Given the description of an element on the screen output the (x, y) to click on. 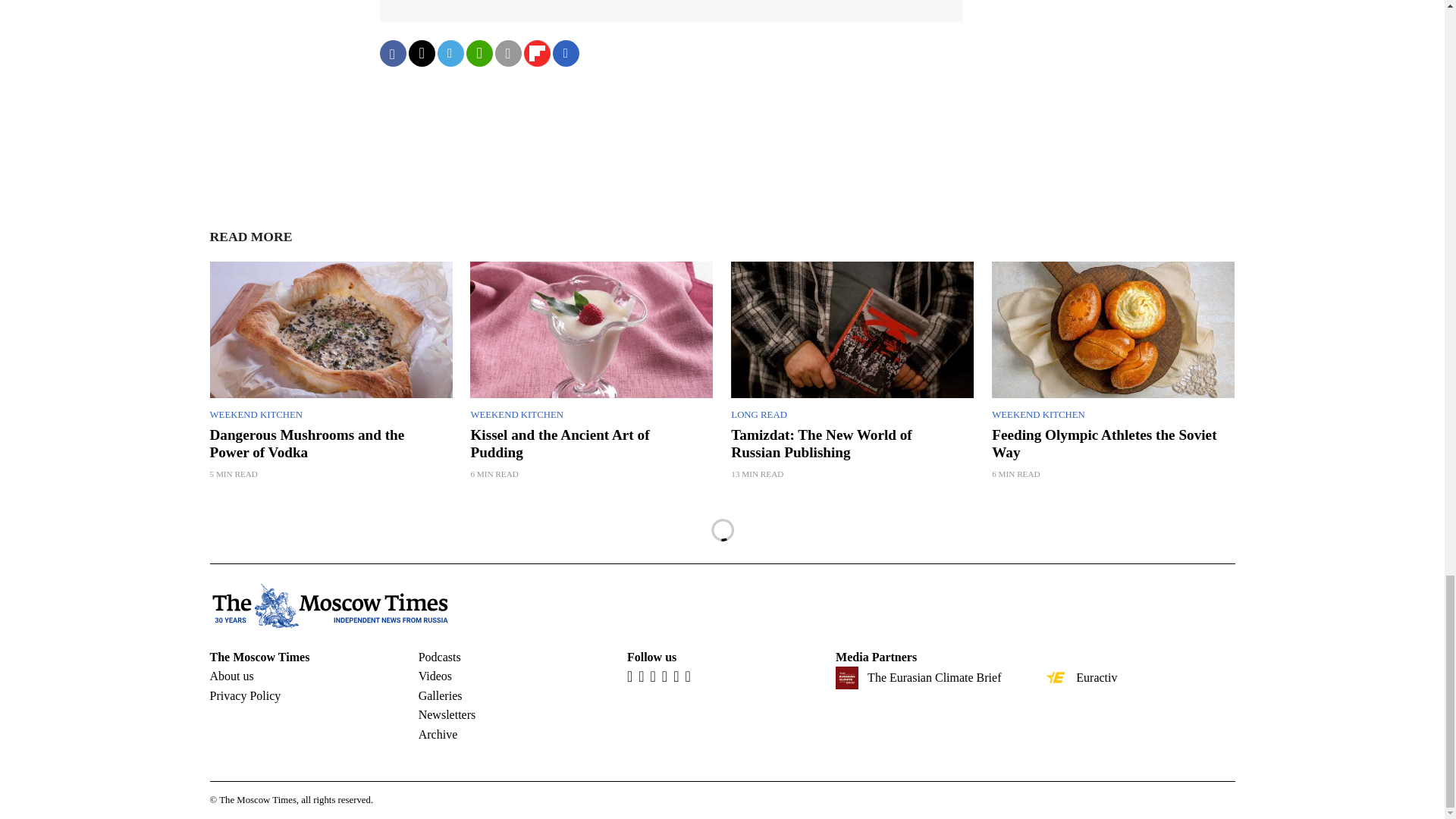
Share on Flipboard (536, 53)
Share on Facebook (392, 53)
Share on Telegram (449, 53)
Share on Twitter (420, 53)
